Given the description of an element on the screen output the (x, y) to click on. 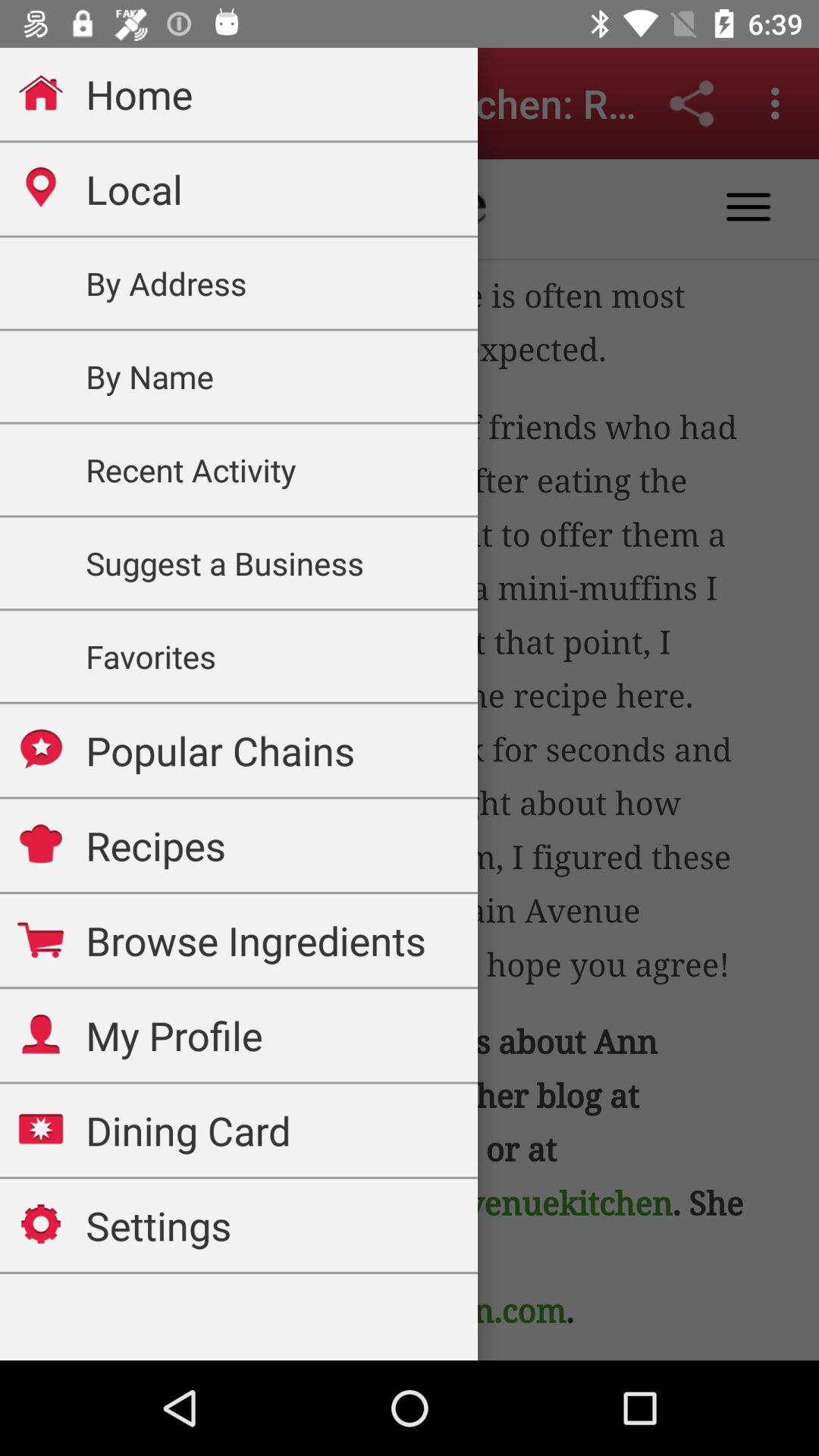
click on the icon which is left hand side of the text settings (40, 1223)
select the icon which is before recipes (40, 843)
select icon beside my profile on the page (40, 1034)
